Given the description of an element on the screen output the (x, y) to click on. 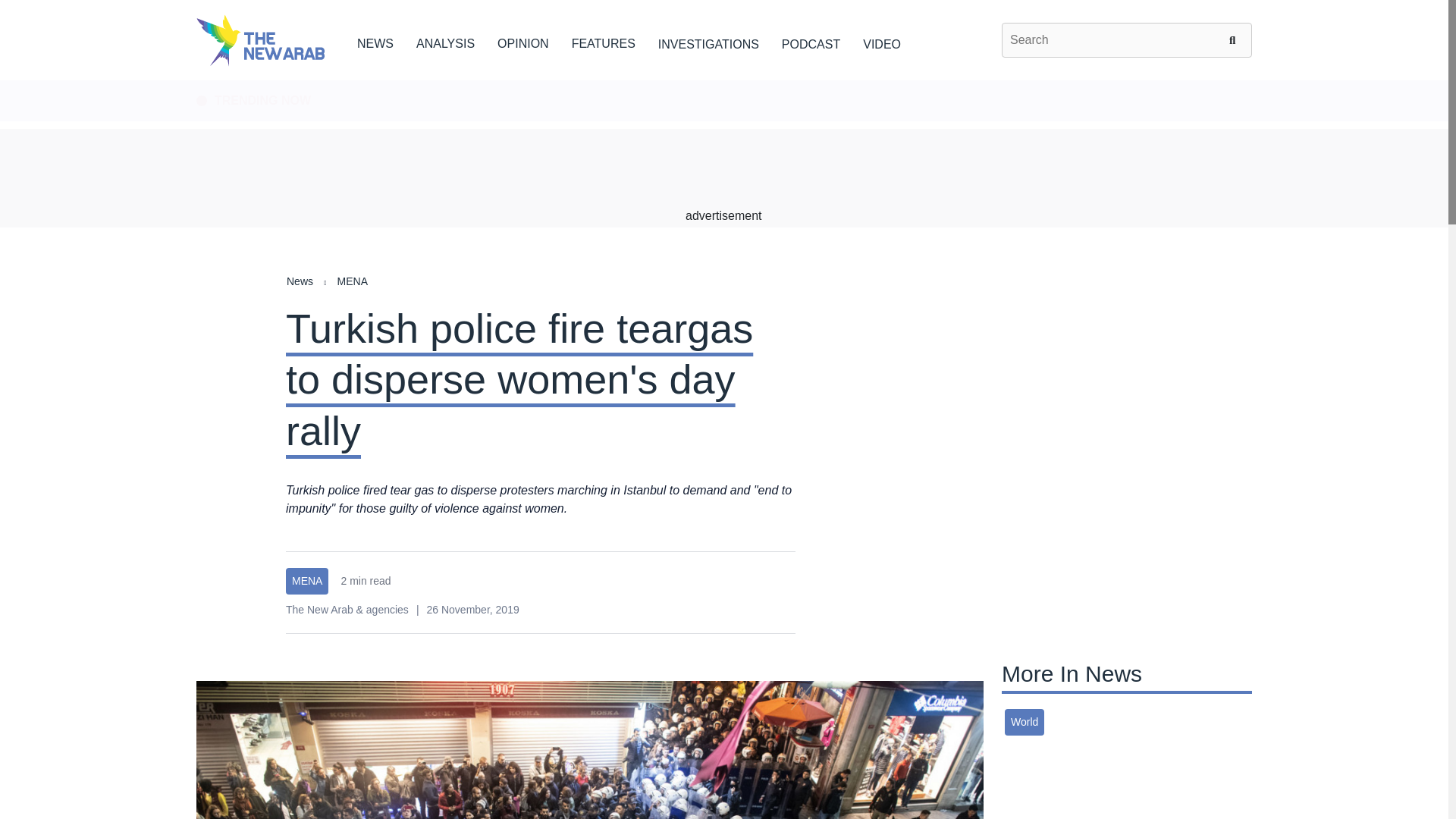
NEWS (375, 41)
ANALYSIS (445, 41)
Search (1234, 39)
Skip to main content (724, 81)
OPINION (523, 41)
